Given the description of an element on the screen output the (x, y) to click on. 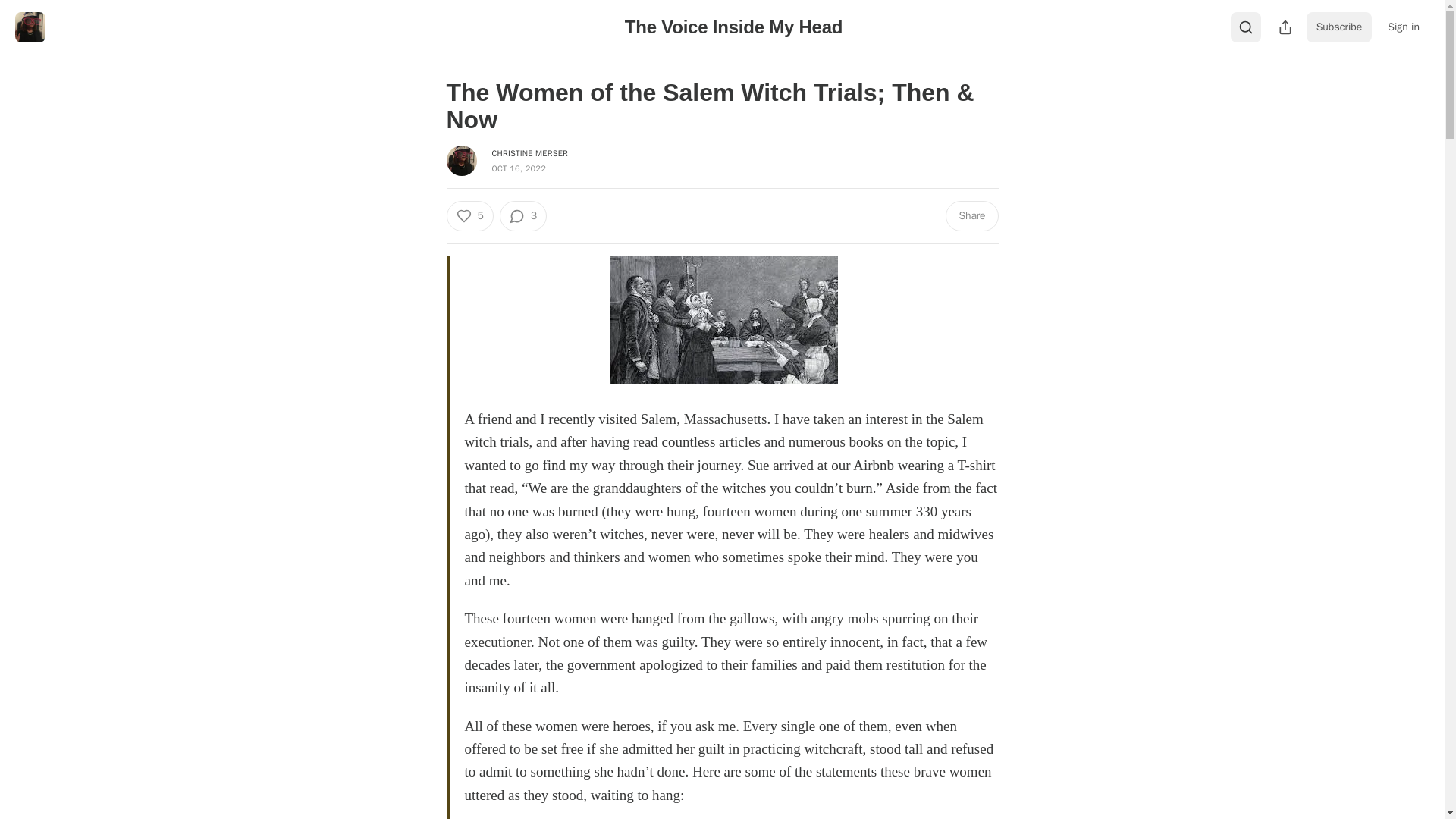
Sign in (1403, 27)
5 (469, 215)
3 (523, 215)
The Voice Inside My Head (733, 26)
Subscribe (1339, 27)
CHRISTINE MERSER (529, 153)
Share (970, 215)
